Given the description of an element on the screen output the (x, y) to click on. 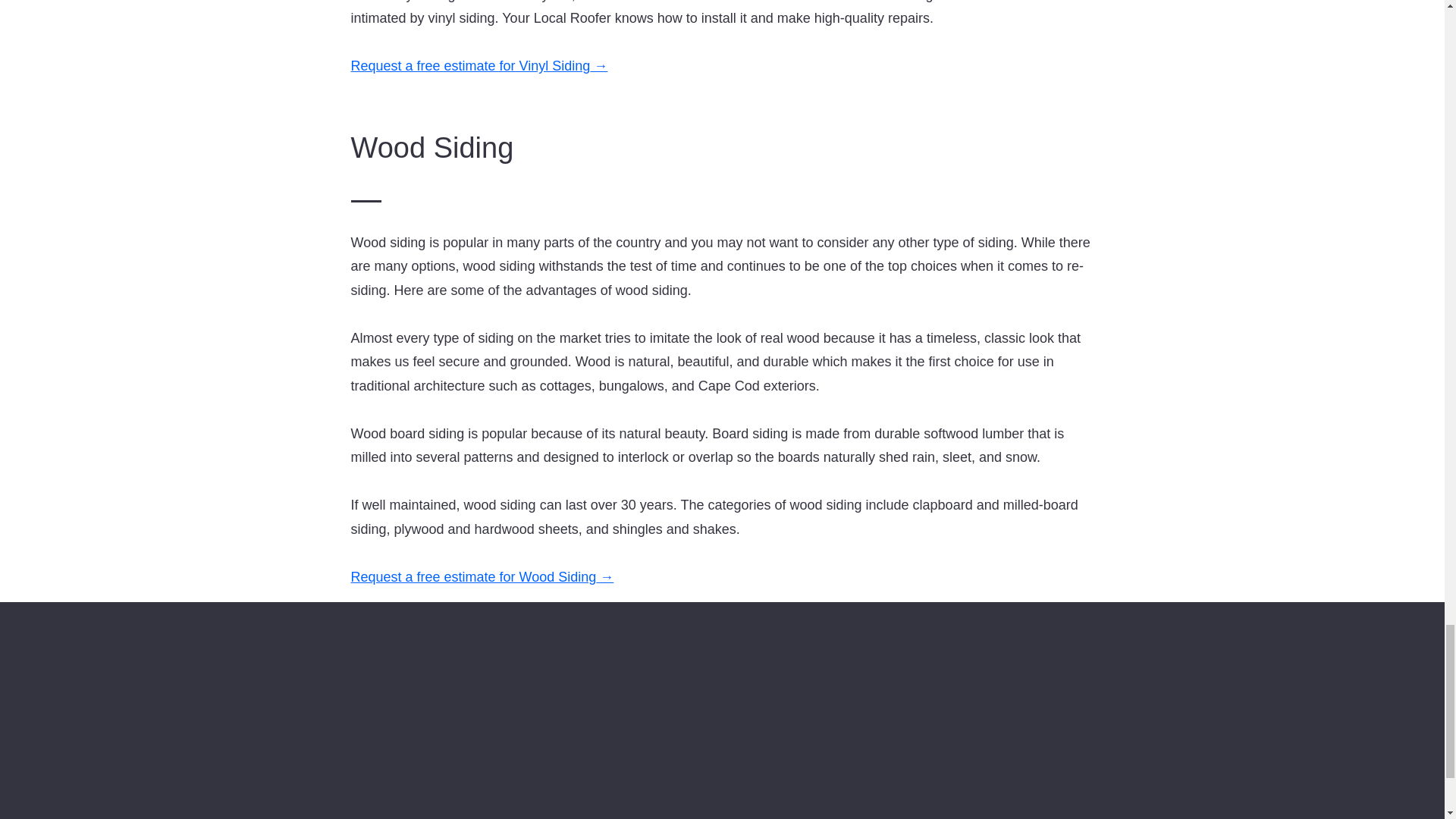
Request a free estimate for Vinyl Siding (469, 65)
Request a free estimate for Wood Siding (472, 576)
